Given the description of an element on the screen output the (x, y) to click on. 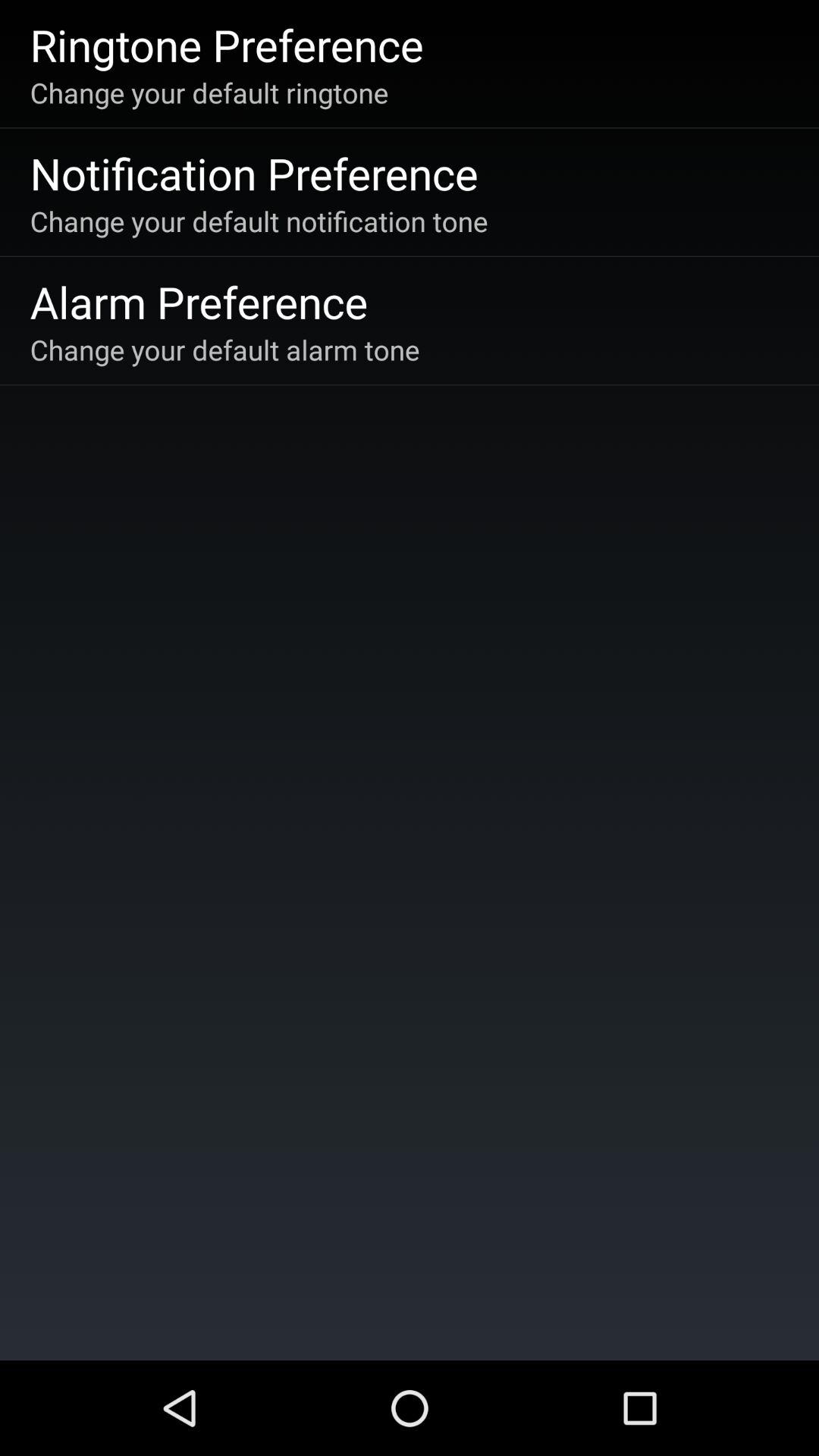
select item below the change your default (198, 301)
